Given the description of an element on the screen output the (x, y) to click on. 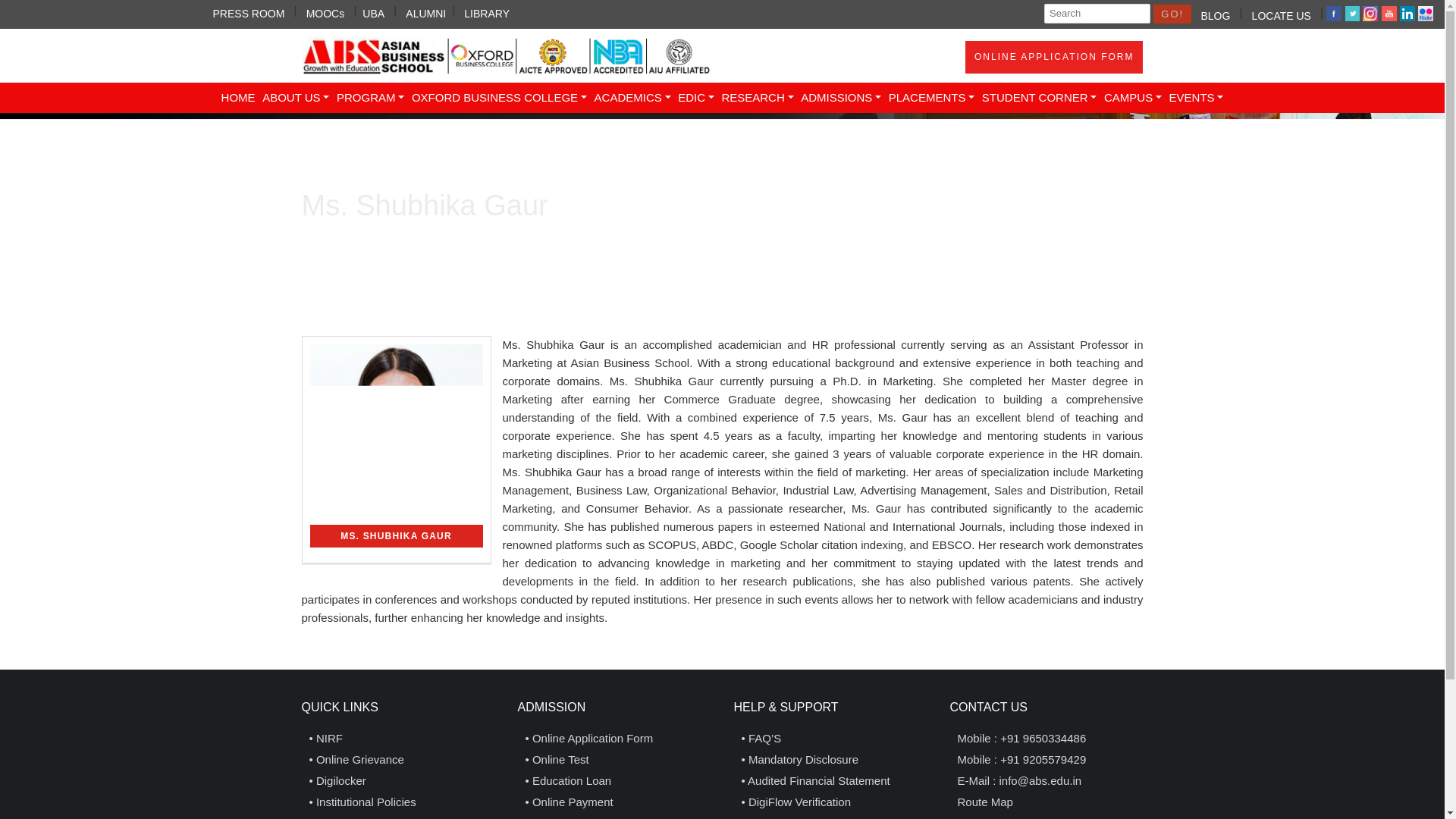
Unnat Bharat Abhiyan (373, 11)
LOCATE US (1281, 13)
About Us (296, 97)
ALUMNI (424, 11)
BLOG (1214, 13)
MOOCs (324, 11)
GO! (1172, 13)
UBA (373, 11)
ONLINE APPLICATION FORM (1053, 56)
LIBRARY (486, 11)
PRESS ROOM (248, 11)
Home (237, 97)
ABOUT US (296, 97)
HOME (237, 97)
